Given the description of an element on the screen output the (x, y) to click on. 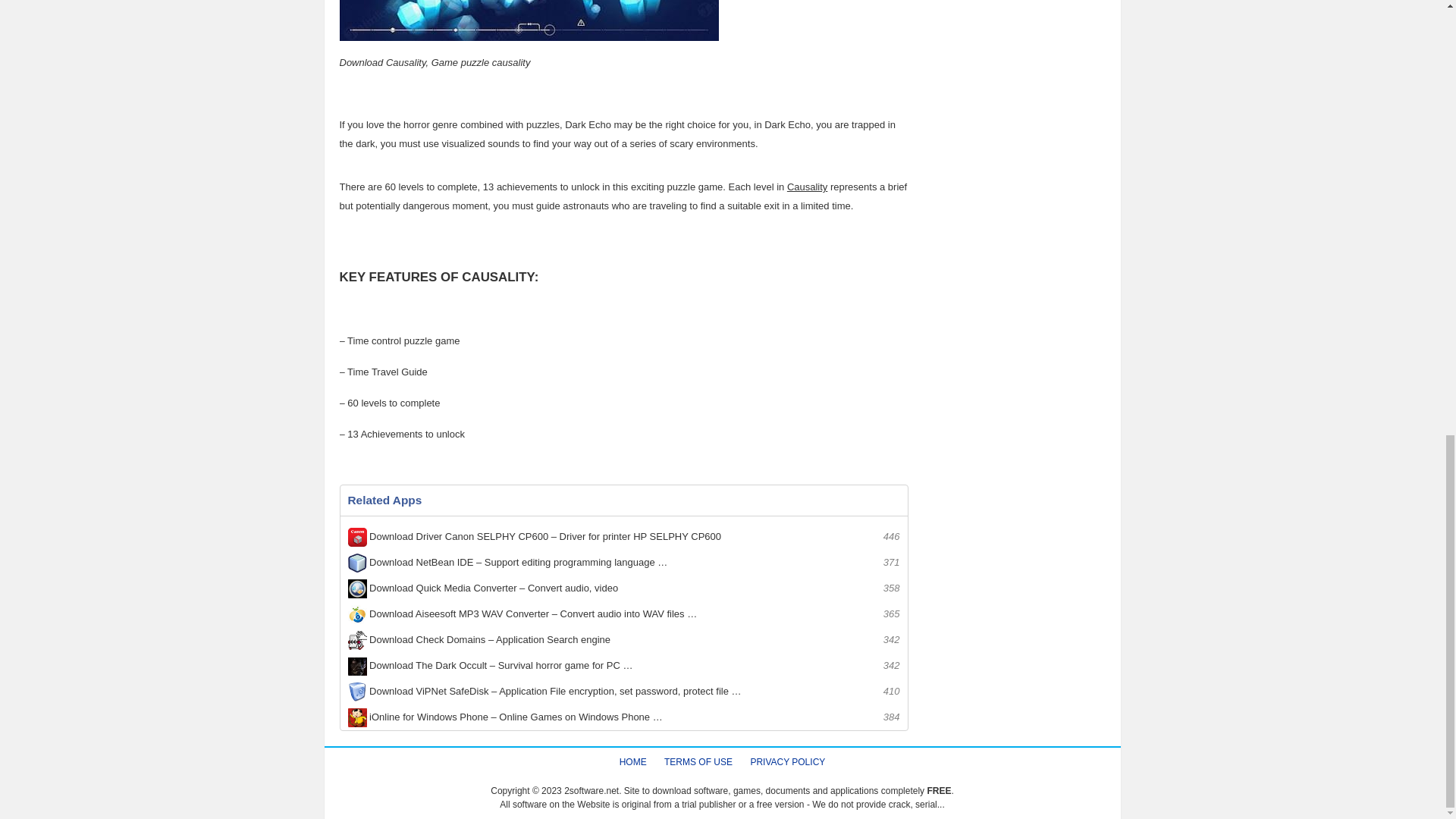
HOME (633, 762)
TERMS OF USE (697, 762)
